Given the description of an element on the screen output the (x, y) to click on. 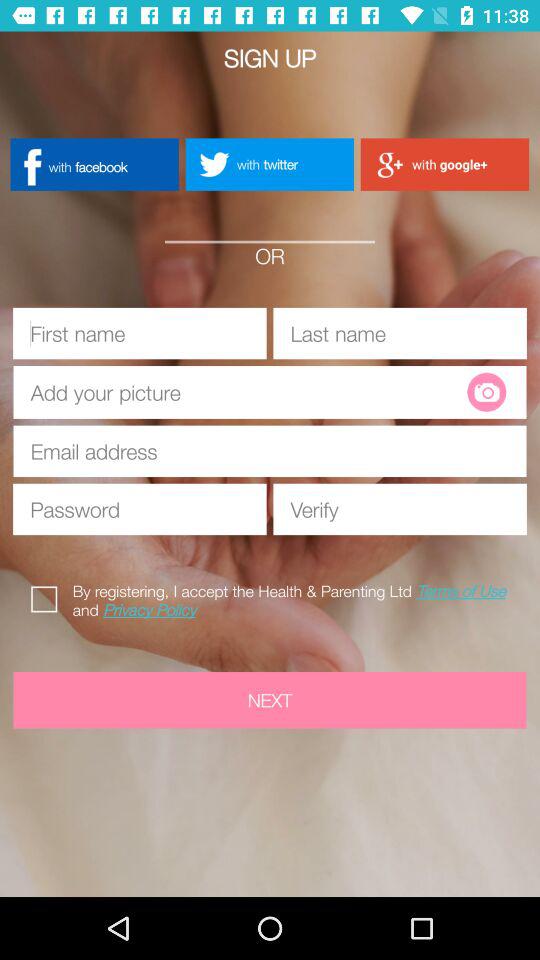
turn off button to the right of with twitter (444, 164)
